Given the description of an element on the screen output the (x, y) to click on. 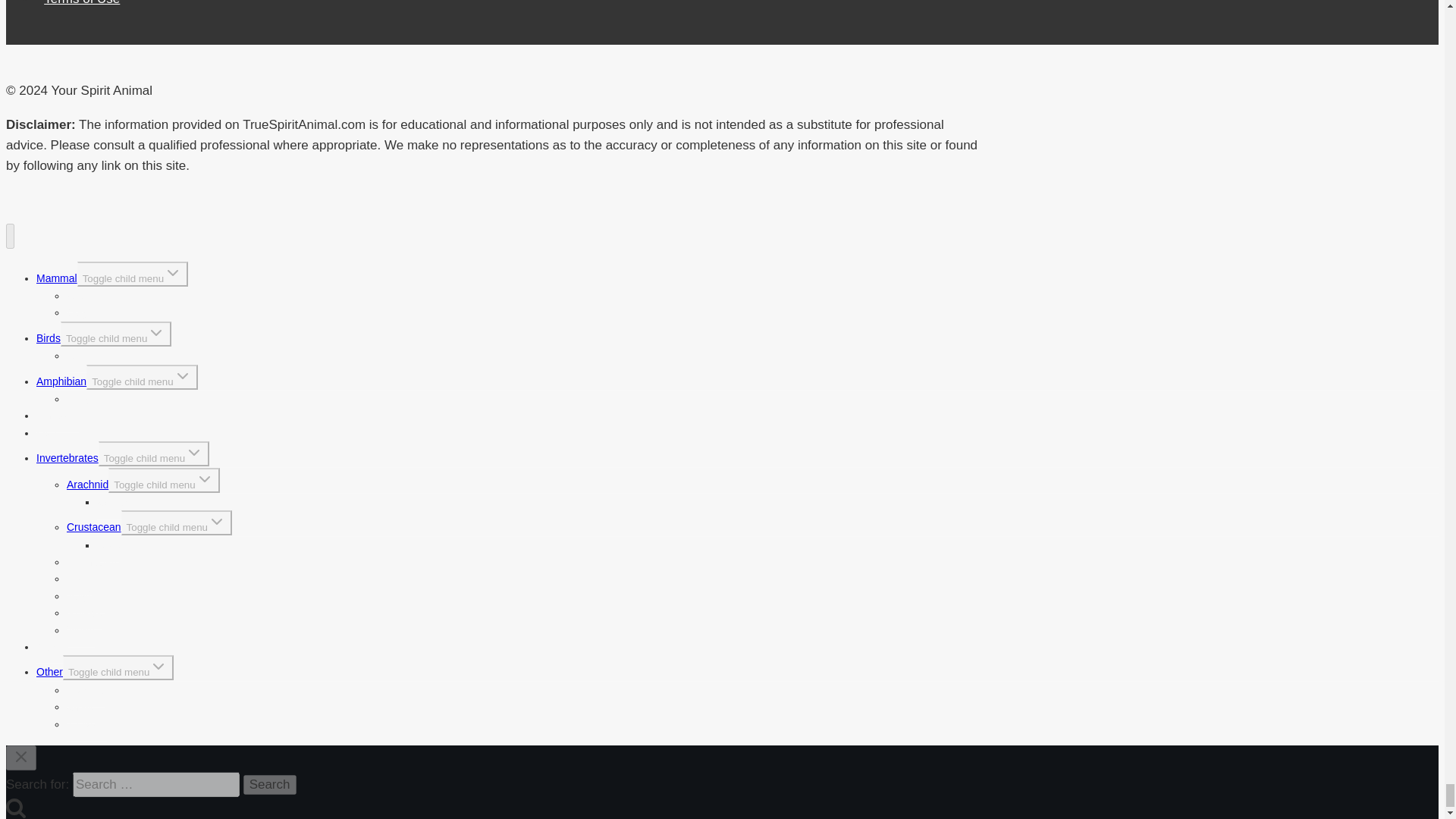
Search (270, 784)
Search (270, 784)
